Given the description of an element on the screen output the (x, y) to click on. 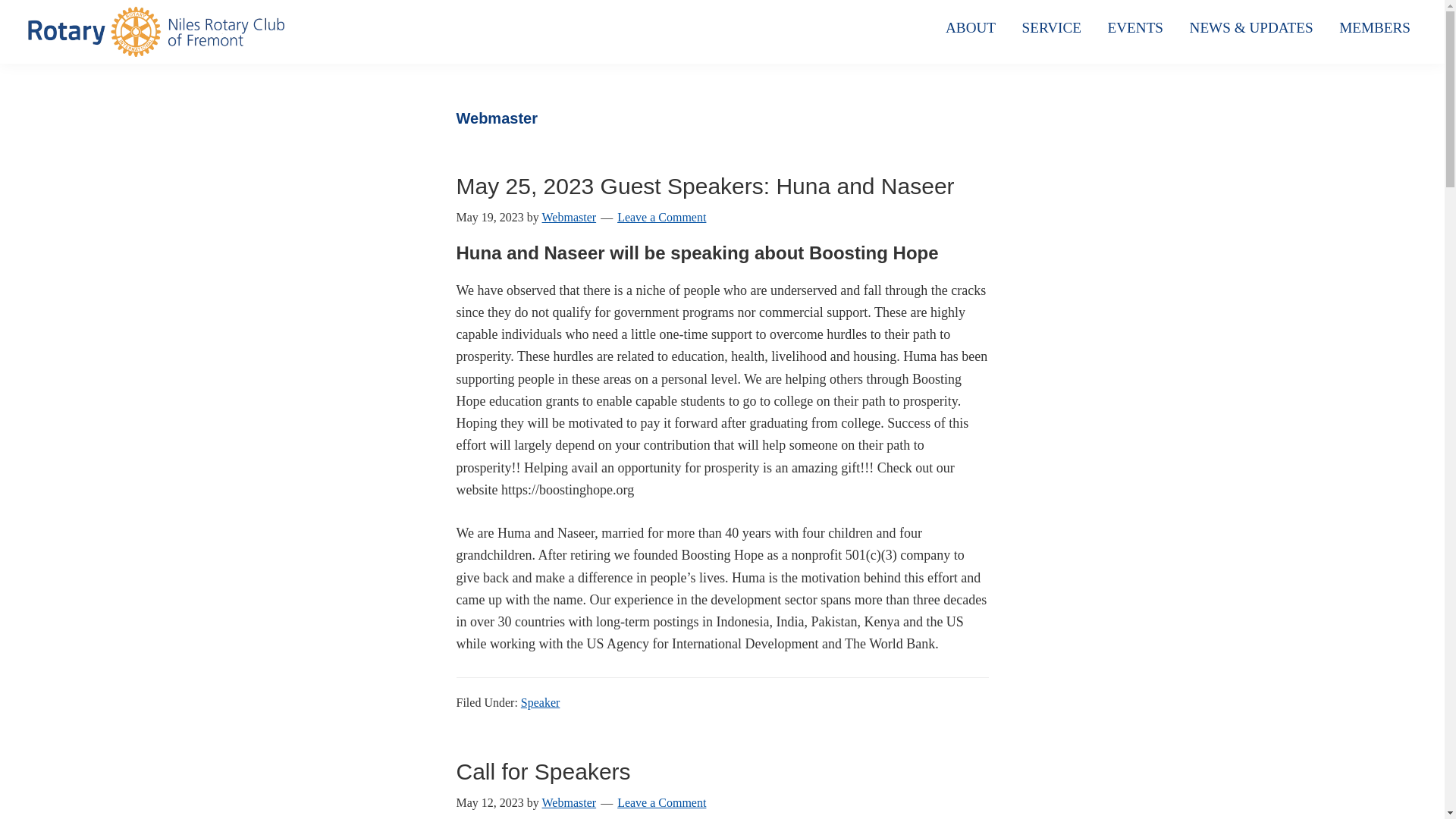
Leave a Comment (661, 802)
Webmaster (568, 216)
Speaker (540, 702)
Call for Speakers (543, 771)
Webmaster (568, 802)
Leave a Comment (661, 216)
SERVICE (1051, 27)
EVENTS (1135, 27)
May 25, 2023 Guest Speakers: Huna and Naseer (706, 186)
MEMBERS (1374, 27)
